Given the description of an element on the screen output the (x, y) to click on. 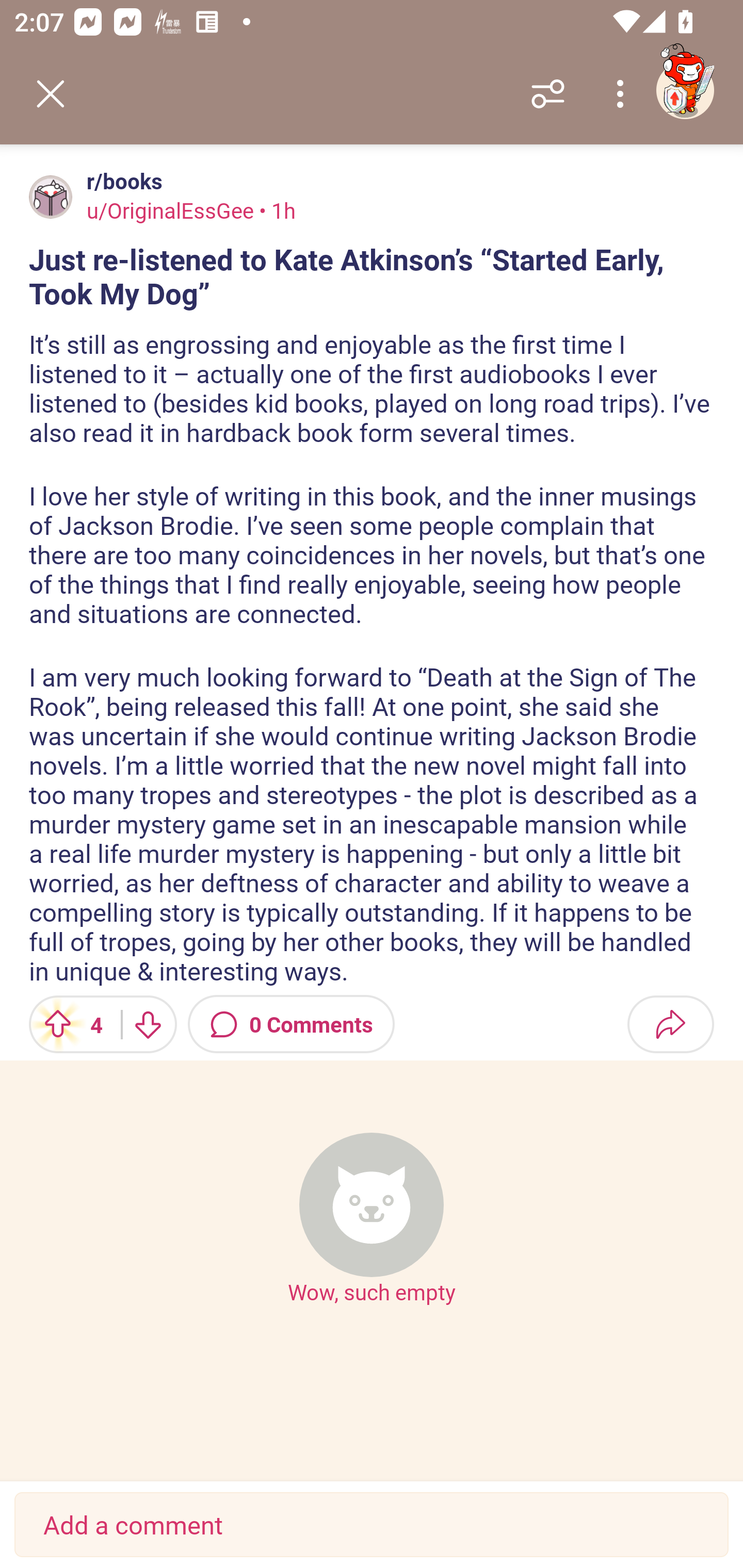
Back (50, 93)
TestAppium002 account (685, 90)
Sort comments (547, 93)
More options (623, 93)
r/books (120, 181)
Avatar (50, 196)
u/OriginalEssGee (170, 210)
Upvote 4 Downvote 0 Comments Share (371, 1023)
Upvote 4 (67, 1023)
Downvote (146, 1023)
0 Comments (290, 1023)
Share (670, 1023)
Add a comment (371, 1524)
